Given the description of an element on the screen output the (x, y) to click on. 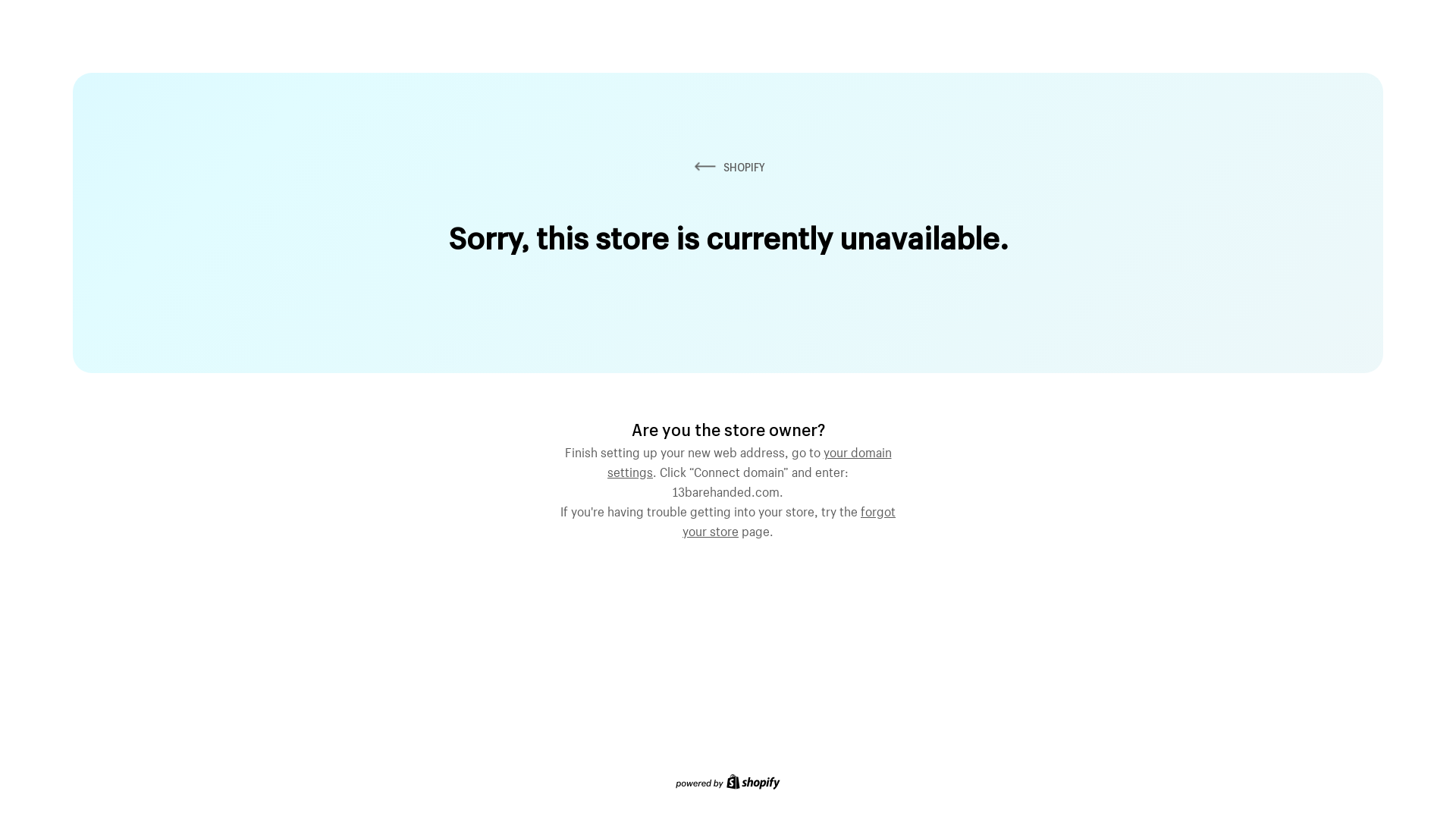
your domain settings Element type: text (749, 460)
SHOPIFY Element type: text (727, 167)
forgot your store Element type: text (788, 519)
